Given the description of an element on the screen output the (x, y) to click on. 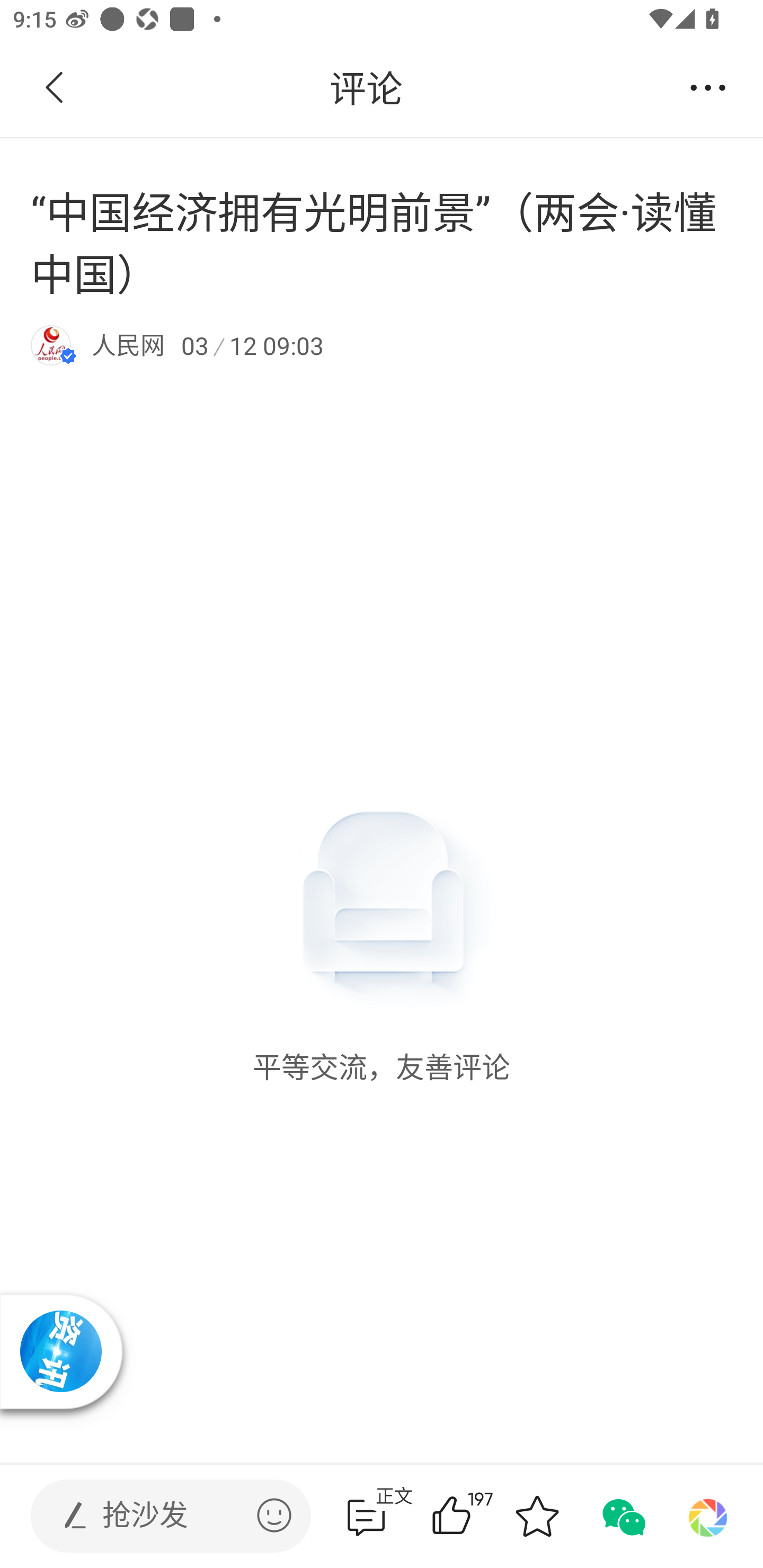
评论 (365, 87)
分享  (707, 87)
 返回 (54, 87)
人民网 (127, 344)
平等交流，友善评论 (381, 735)
播放器 (60, 1350)
发表评论  抢沙发 发表评论  (155, 1516)
抢评论  抢 评论 (365, 1516)
197赞 (476, 1516)
收藏  (536, 1516)
分享到微信  (622, 1516)
分享到朋友圈 (707, 1516)
 (274, 1515)
